Given the description of an element on the screen output the (x, y) to click on. 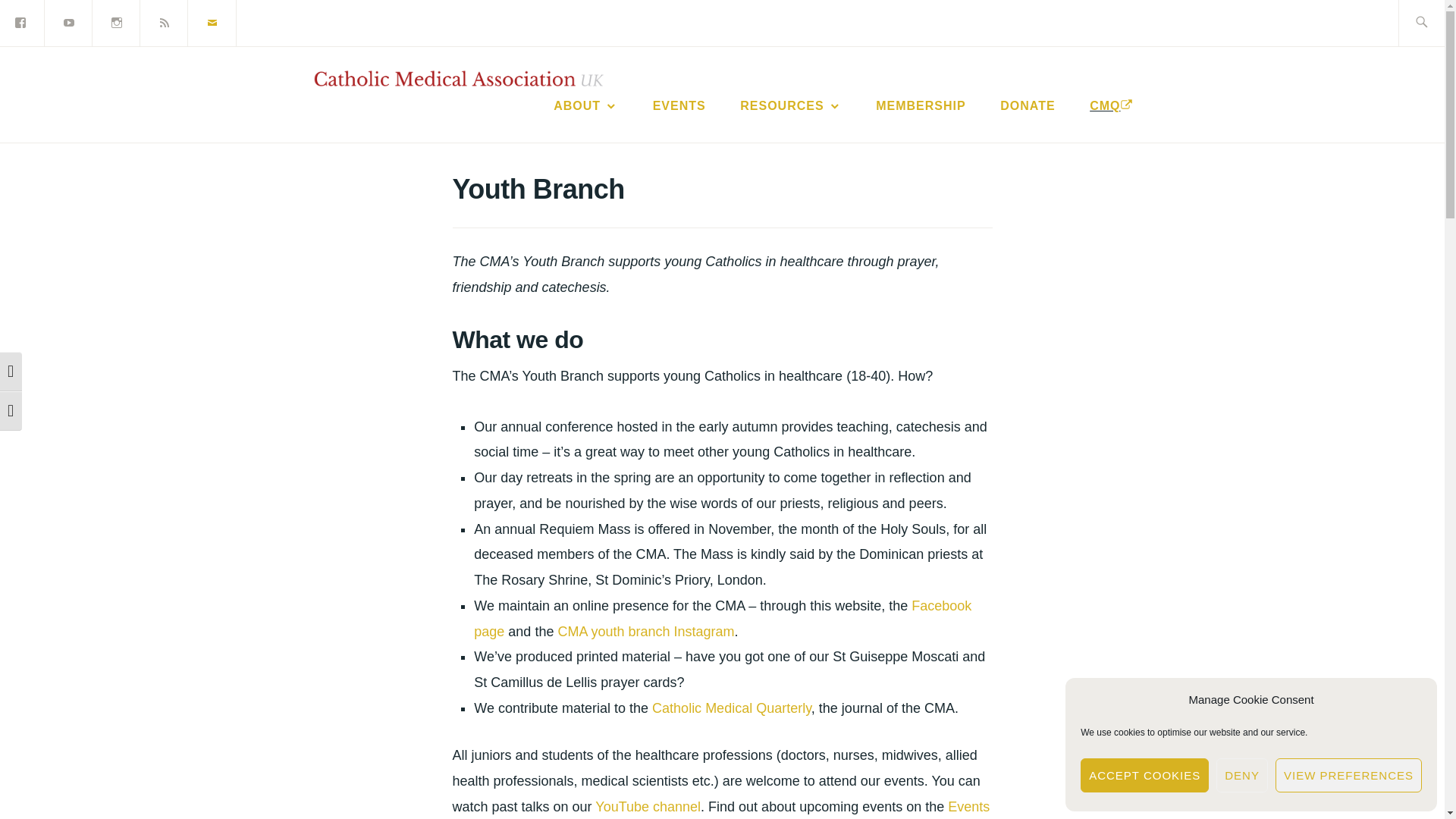
Feed (165, 21)
CATHOLIC MEDICAL ASSOCIATION (751, 126)
ACCEPT COOKIES (1144, 775)
DENY (1241, 775)
Contact (212, 21)
YouTube (69, 21)
ABOUT (585, 106)
RESOURCES (790, 106)
Facebook (22, 21)
EVENTS (679, 106)
